Given the description of an element on the screen output the (x, y) to click on. 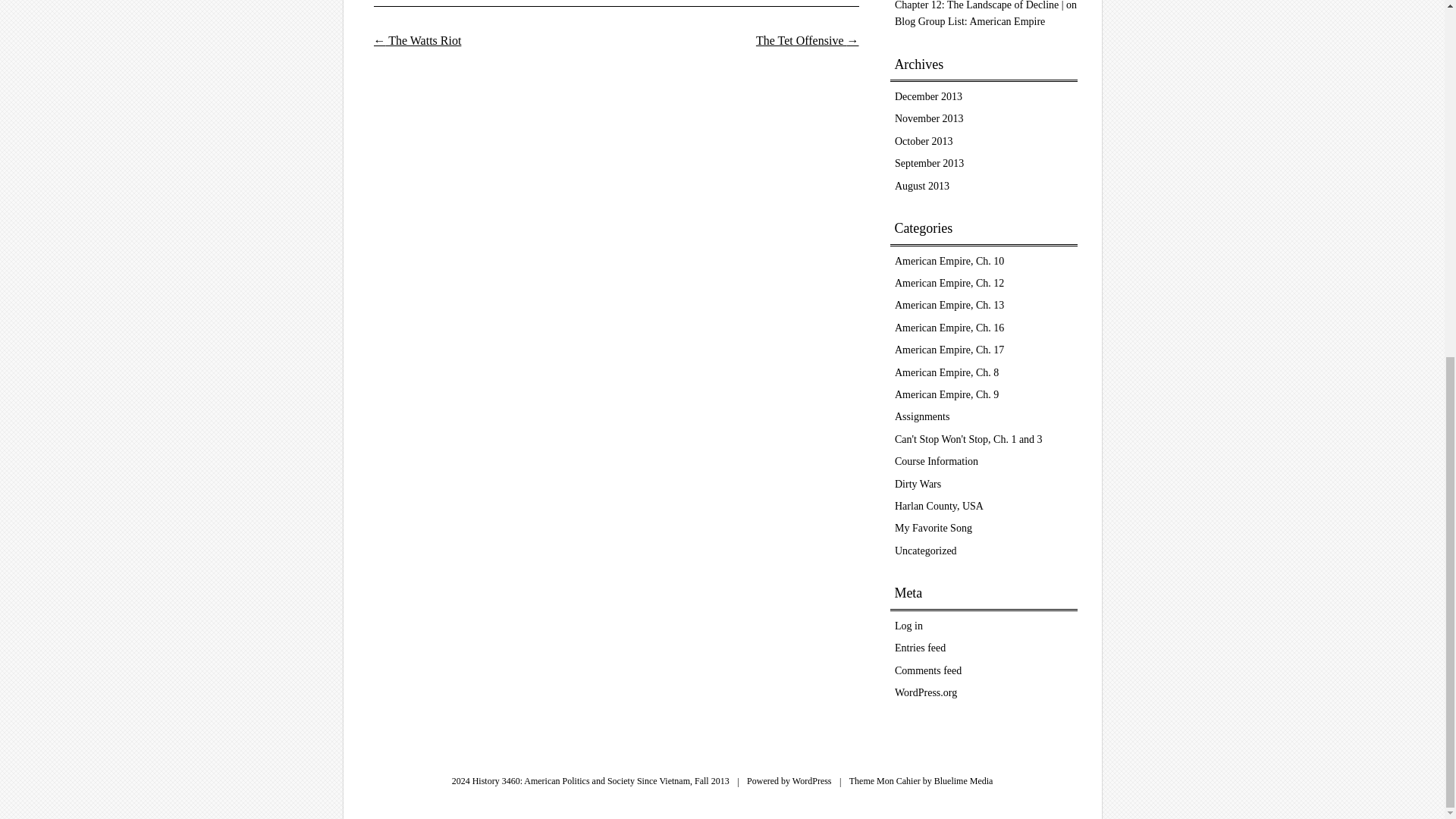
American Empire, Ch. 16 (949, 327)
American Empire, Ch. 10 (949, 260)
American Empire, Ch. 12 (949, 283)
American Empire, Ch. 8 (946, 372)
American Empire, Ch. 17 (949, 349)
American Empire, Ch. 9 (946, 394)
Dirty Wars (917, 483)
American Empire, Ch. 13 (949, 305)
Course Information (936, 460)
Assignments (922, 416)
Harlan County, USA (939, 505)
August 2013 (922, 185)
September 2013 (929, 163)
December 2013 (928, 96)
Can't Stop Won't Stop, Ch. 1 and 3 (968, 439)
